Given the description of an element on the screen output the (x, y) to click on. 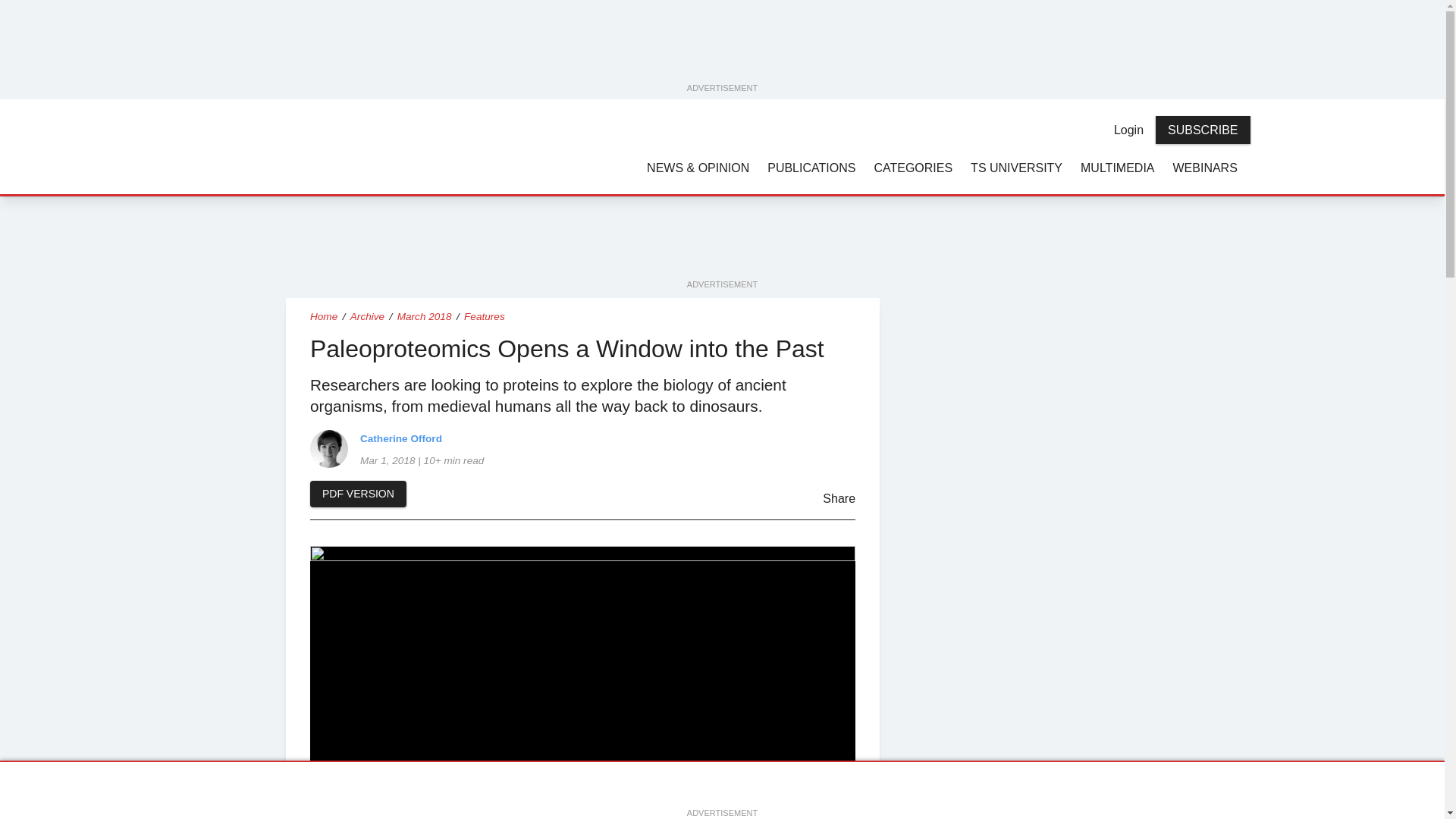
Login (1127, 130)
SUBSCRIBE (1202, 130)
Catherine Offord (328, 447)
TS UNIVERSITY (1015, 167)
CATEGORIES (912, 167)
